Given the description of an element on the screen output the (x, y) to click on. 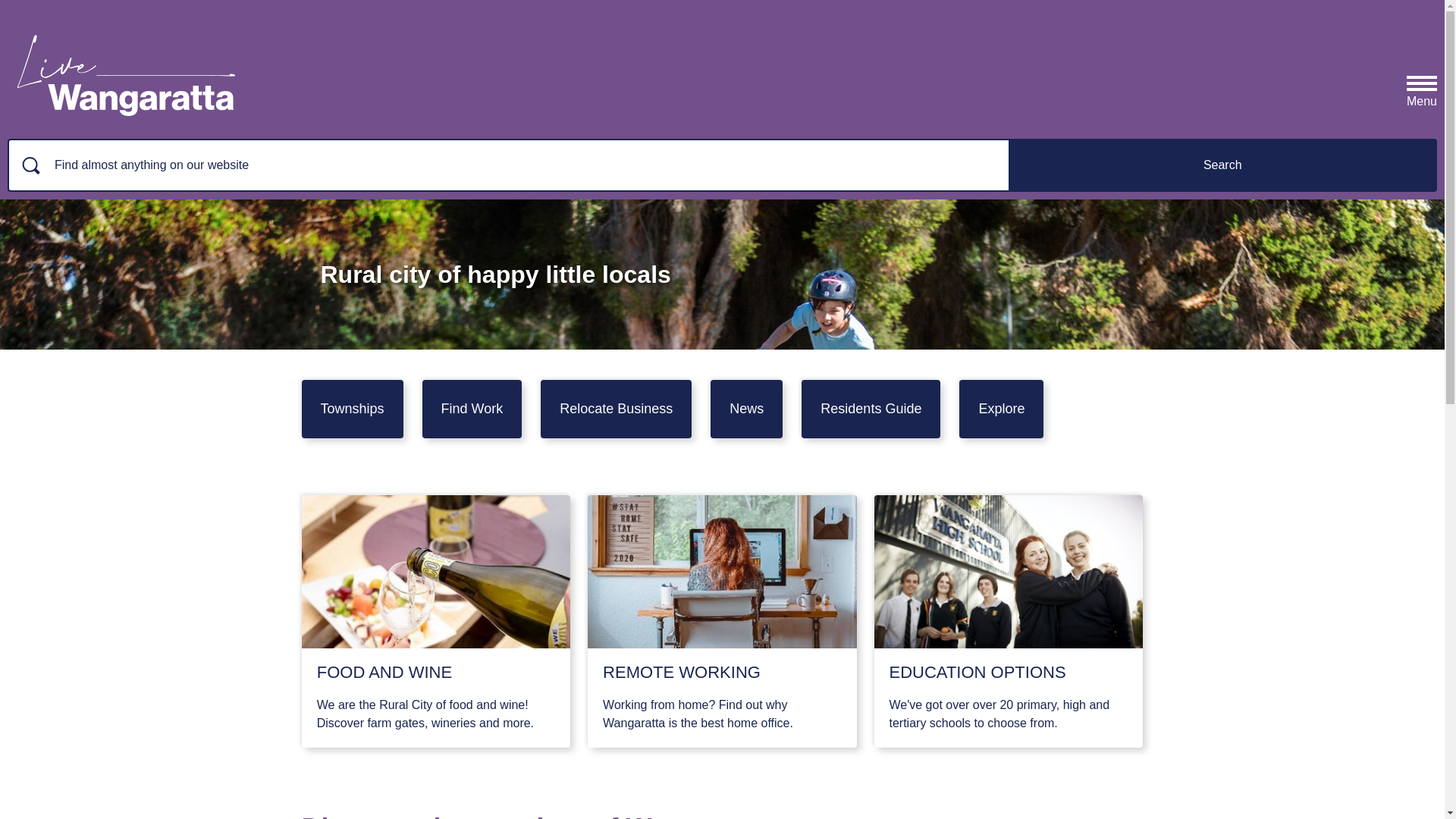
Explore Element type: text (1001, 408)
Relocate Business Element type: text (615, 408)
Menu Element type: text (1421, 85)
Find Work Element type: text (472, 408)
Residents Guide Element type: text (870, 408)
Search Element type: text (1222, 164)
Townships Element type: text (352, 408)
News Element type: text (746, 408)
Home - Rural City of Wangaratta - Logo Element type: text (123, 69)
